Given the description of an element on the screen output the (x, y) to click on. 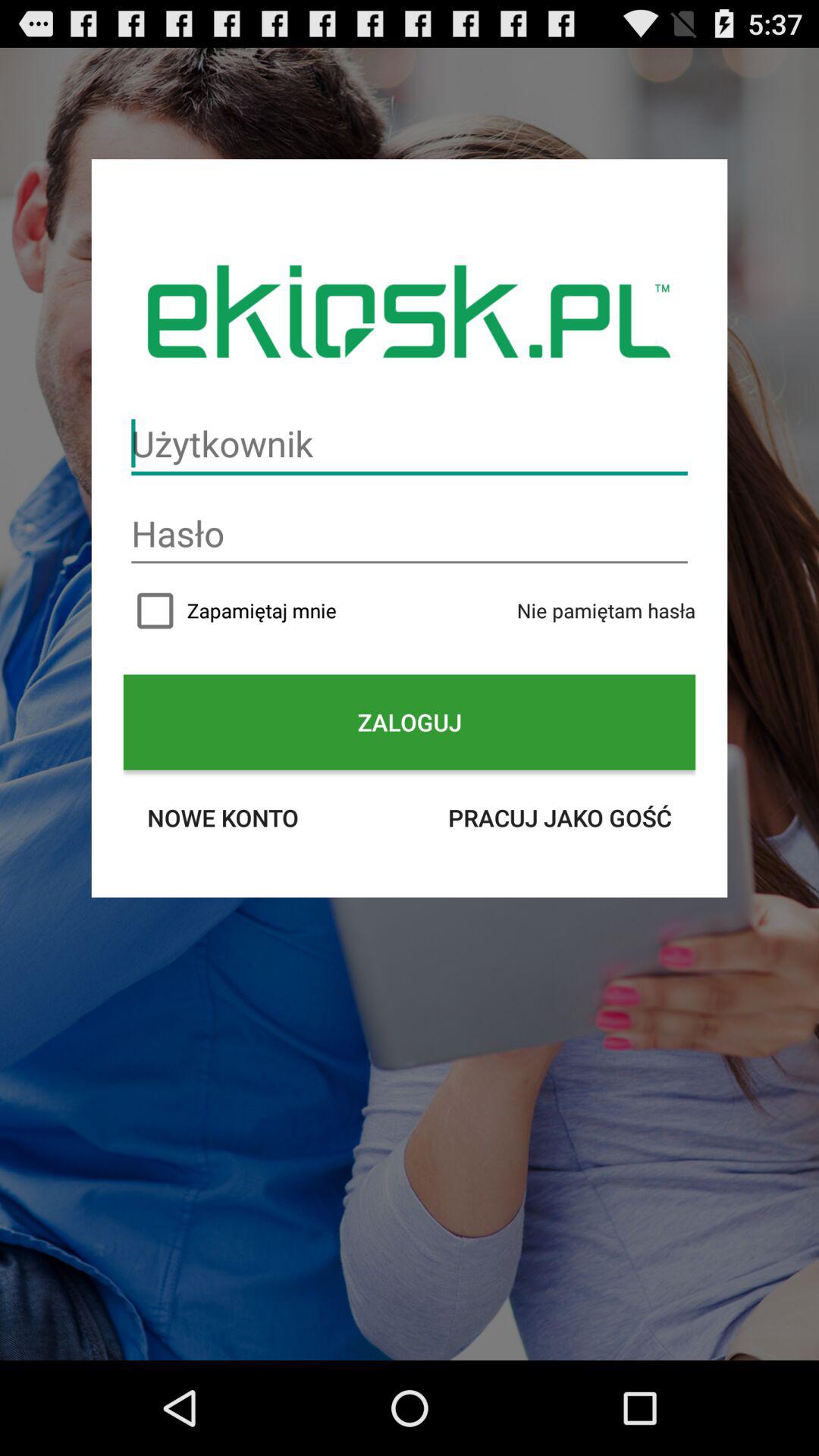
scroll until zaloguj button (409, 722)
